Given the description of an element on the screen output the (x, y) to click on. 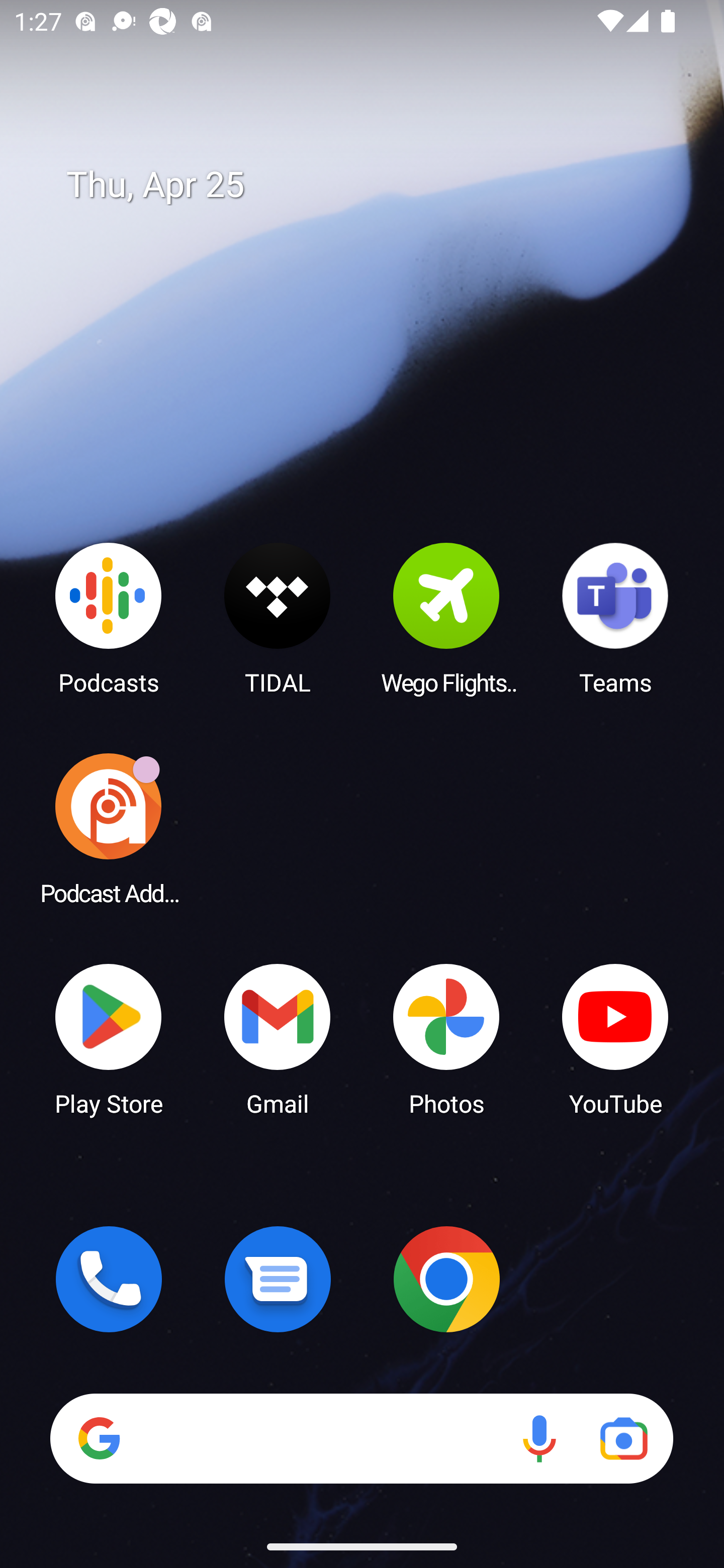
Thu, Apr 25 (375, 184)
Podcasts (108, 617)
TIDAL (277, 617)
Wego Flights & Hotels (445, 617)
Teams (615, 617)
Play Store (108, 1038)
Gmail (277, 1038)
Photos (445, 1038)
YouTube (615, 1038)
Phone (108, 1279)
Messages (277, 1279)
Chrome (446, 1279)
Search Voice search Google Lens (361, 1438)
Voice search (539, 1438)
Google Lens (623, 1438)
